Given the description of an element on the screen output the (x, y) to click on. 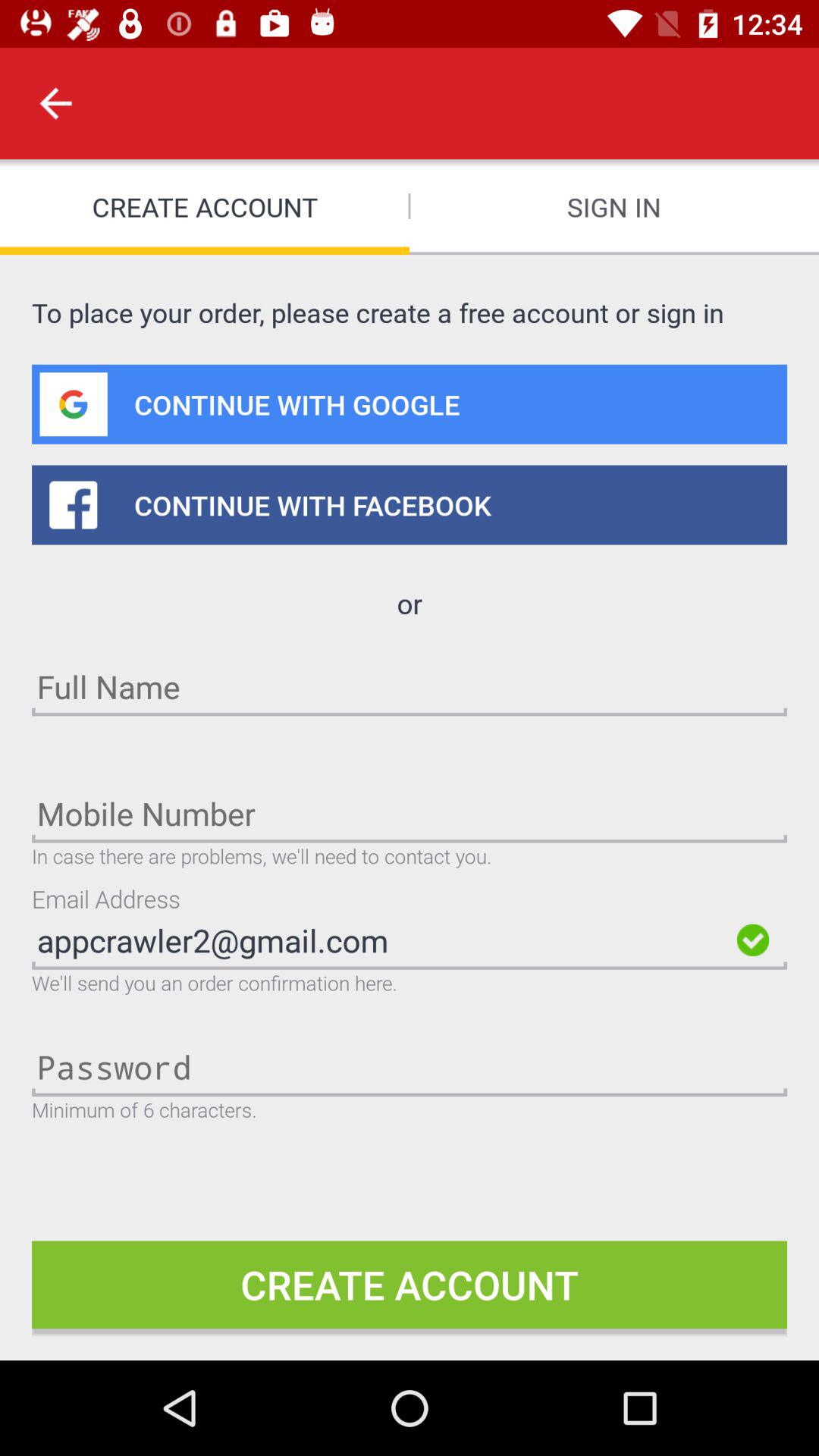
enter password code (409, 1066)
